Given the description of an element on the screen output the (x, y) to click on. 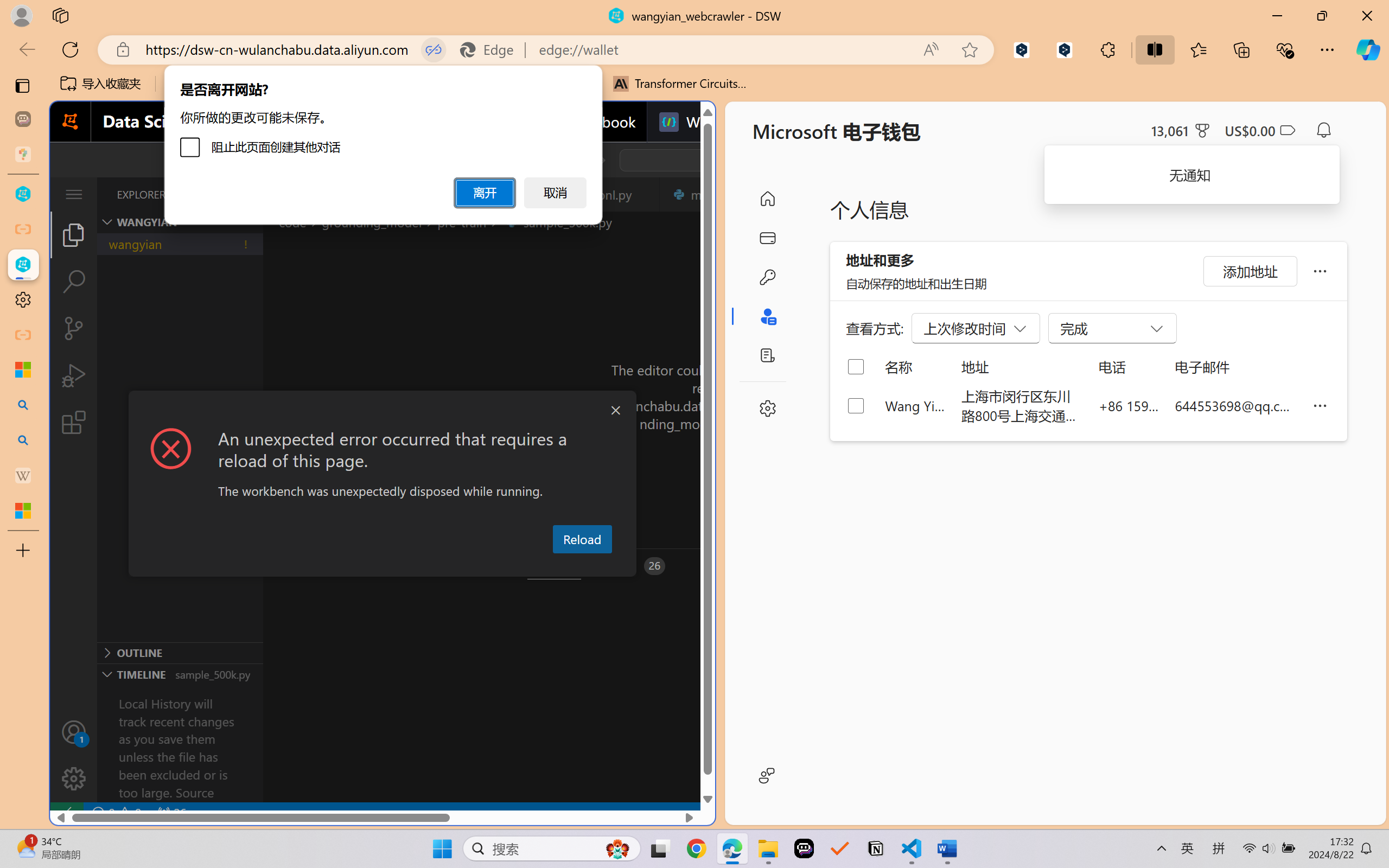
Search (Ctrl+Shift+F) (73, 281)
Extensions (Ctrl+Shift+X) (73, 422)
Timeline Section (179, 673)
Class: ___1lmltc5 f1agt3bx f12qytpq (1286, 130)
